Given the description of an element on the screen output the (x, y) to click on. 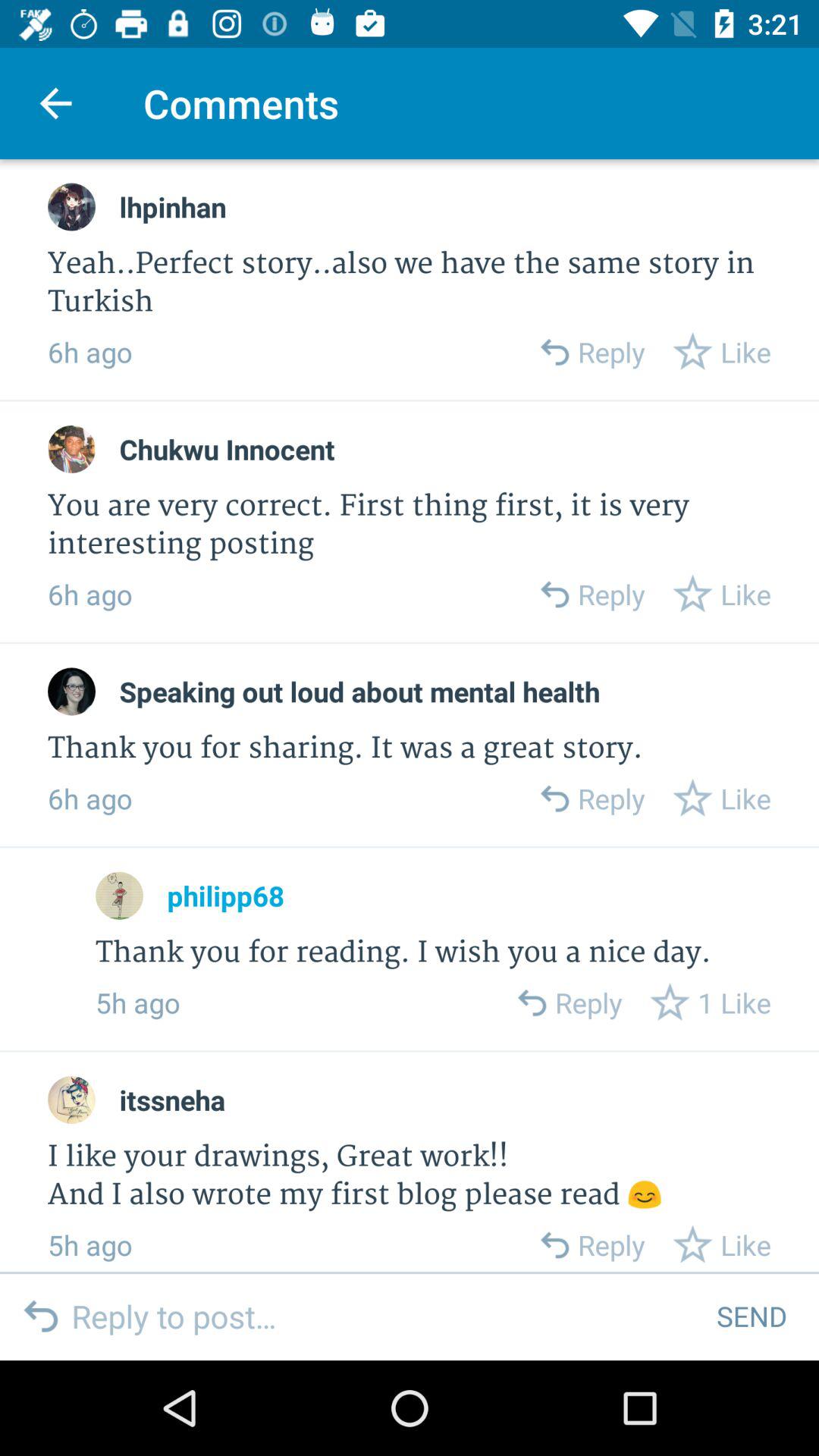
reply to comment (553, 594)
